Given the description of an element on the screen output the (x, y) to click on. 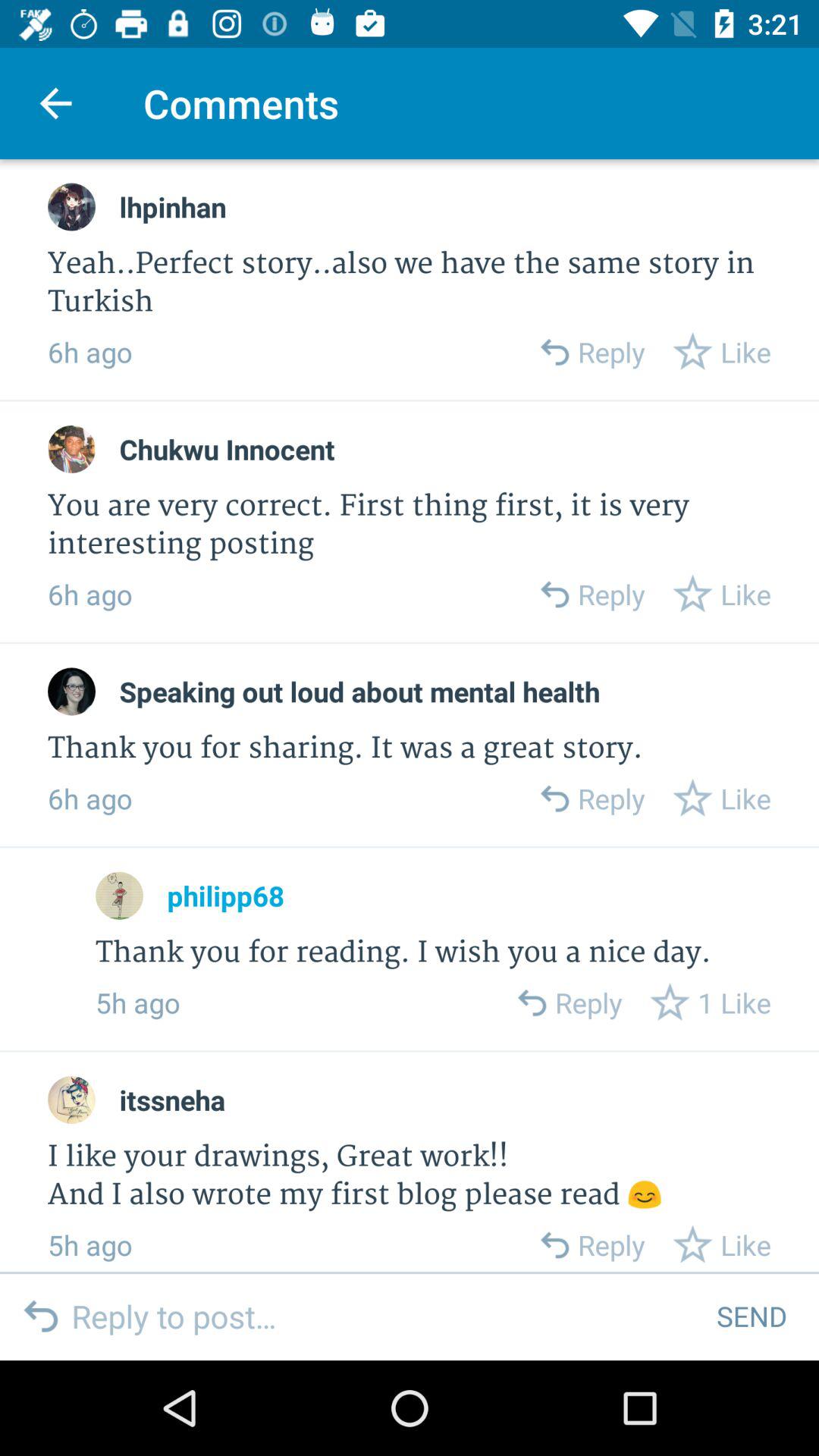
reply to comment (553, 594)
